Given the description of an element on the screen output the (x, y) to click on. 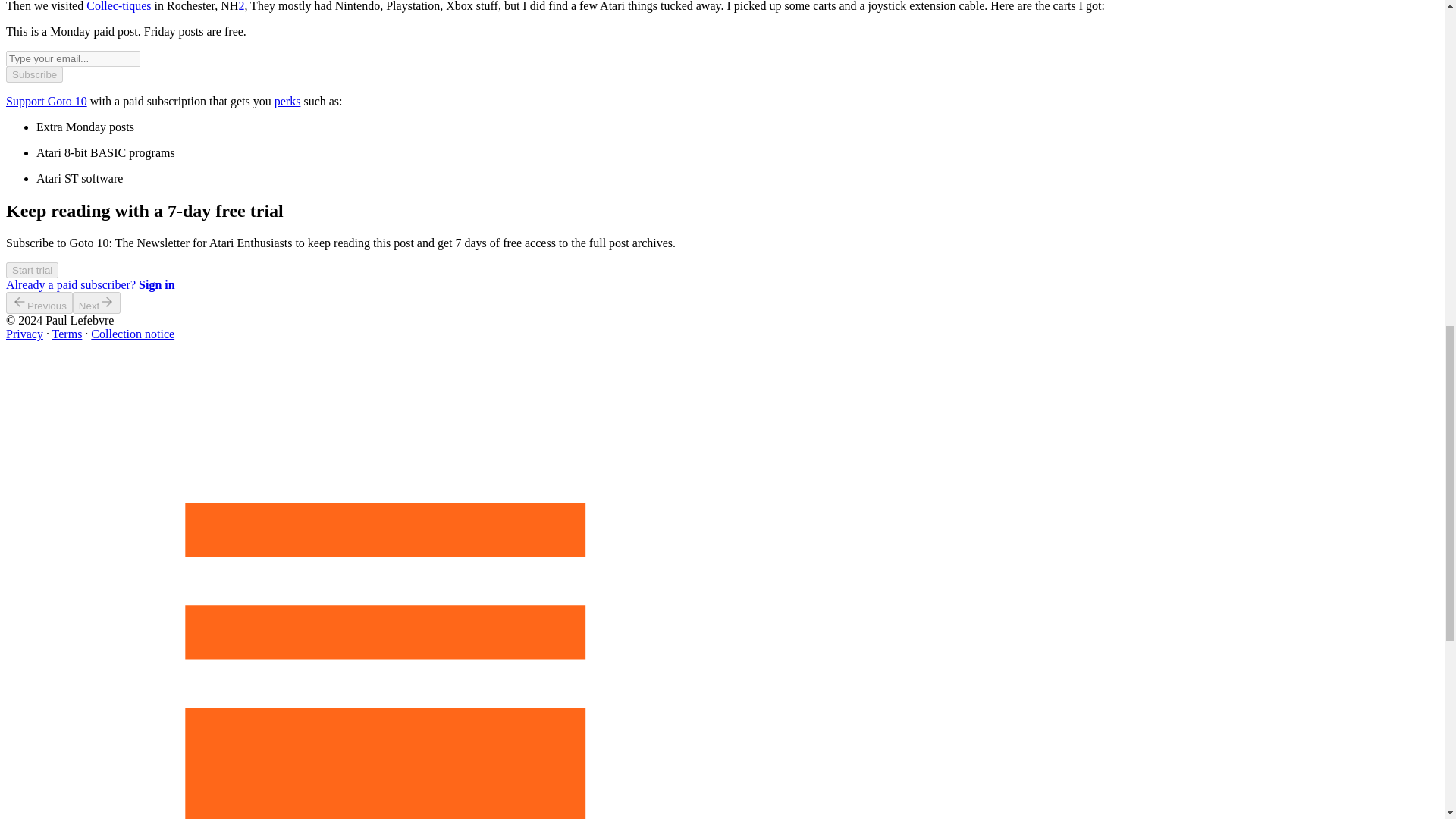
perks (288, 101)
Collec-tiques (118, 6)
Previous (38, 302)
Start trial (31, 269)
Start trial (31, 270)
Already a paid subscriber? Sign in (89, 284)
Terms (67, 333)
Privacy (24, 333)
Next (96, 302)
Collection notice (132, 333)
Support Goto 10 (46, 101)
Subscribe (33, 74)
